Given the description of an element on the screen output the (x, y) to click on. 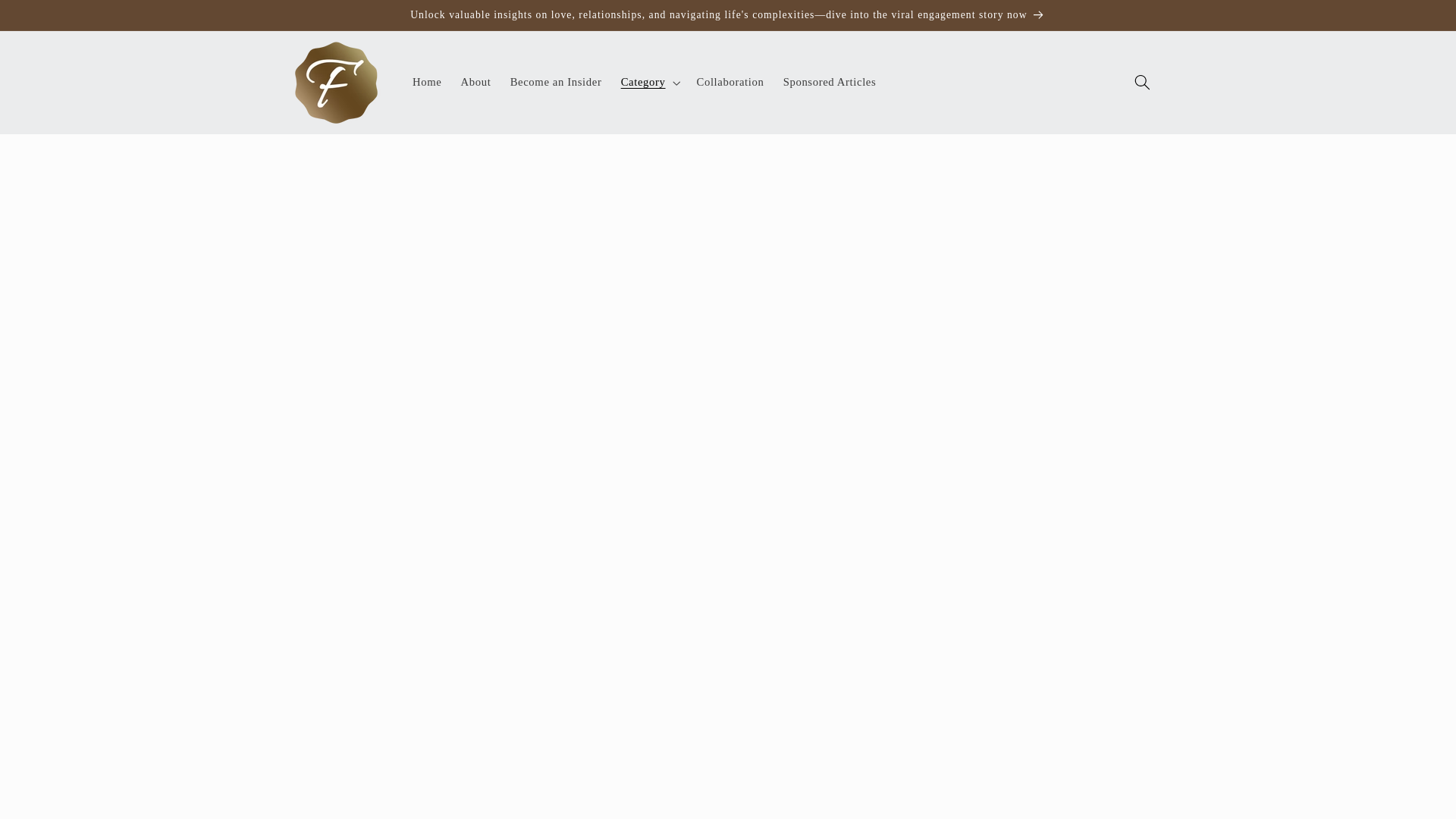
About (475, 82)
Sponsored Articles (829, 82)
Skip to content (48, 18)
Collaboration (730, 82)
Become an Insider (555, 82)
Home (427, 82)
